Given the description of an element on the screen output the (x, y) to click on. 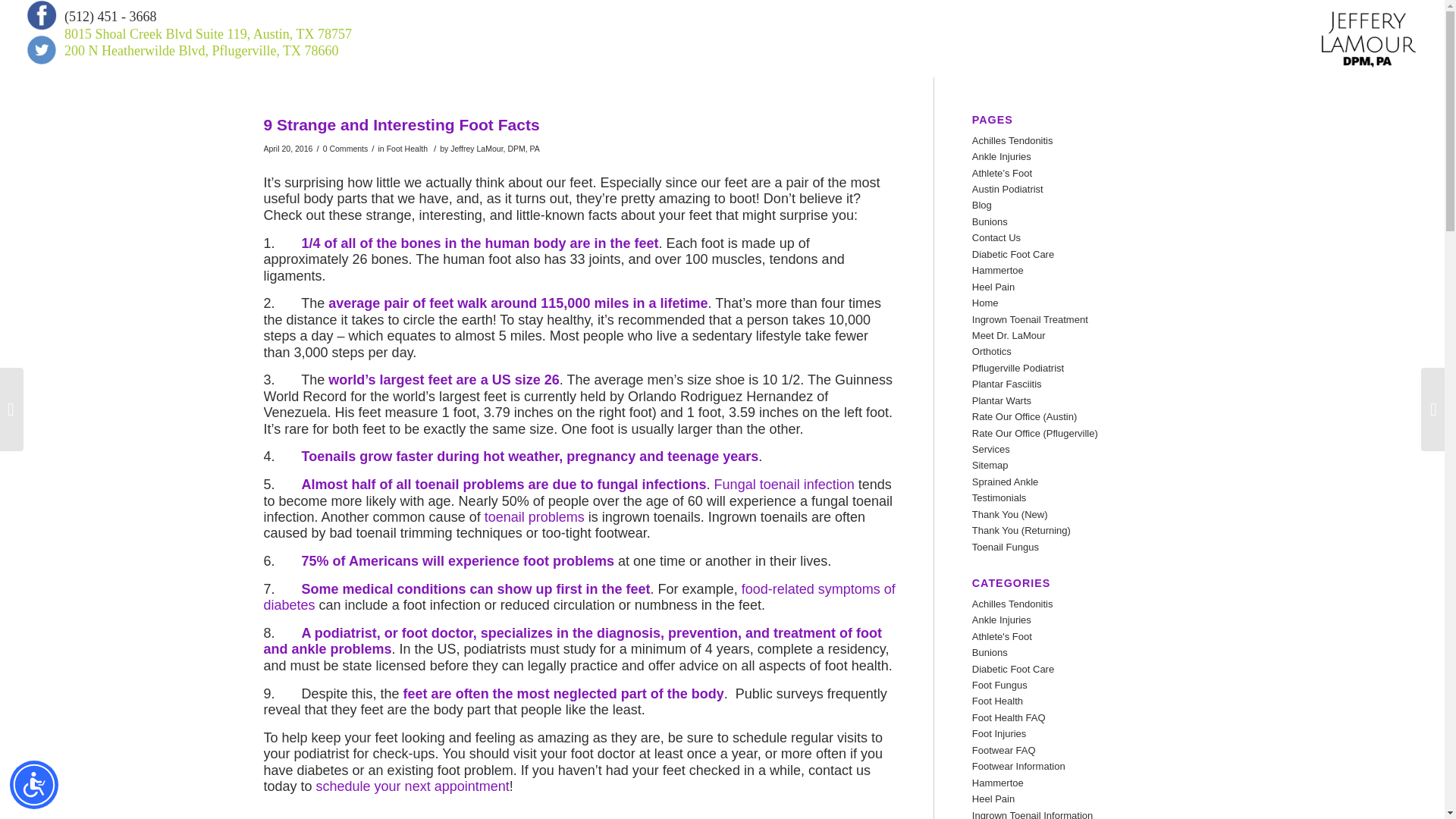
toenail problems (534, 516)
Posts by Jeffrey LaMour, DPM, PA (494, 148)
Accessibility Menu (34, 784)
schedule your next appointment (412, 785)
0 Comments (345, 148)
food-related symptoms of diabetes (579, 596)
Permanent Link: 9 Strange and Interesting Foot Facts (401, 124)
9 Strange and Interesting Foot Facts (401, 124)
Fungal toenail infection (784, 484)
Foot Health (407, 148)
Jeffrey LaMour, DPM, PA (494, 148)
